Given the description of an element on the screen output the (x, y) to click on. 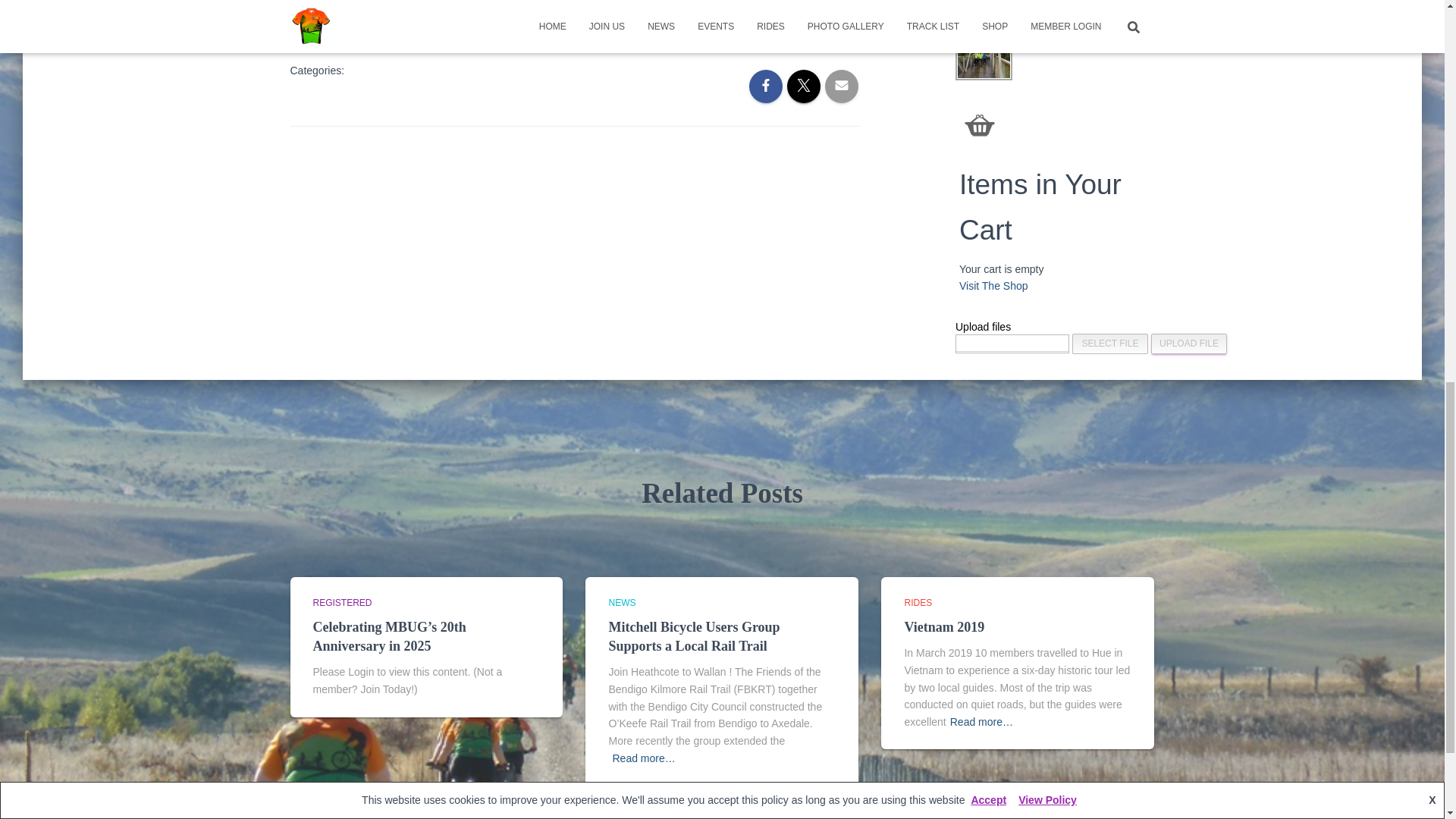
Visit The Shop (993, 285)
Select File (1109, 343)
Upload File (1189, 343)
Mitchell Bicycle Users Group Supports a Local Rail Trail (693, 636)
Shopping Cart (979, 124)
NEWS (621, 602)
REGISTERED (342, 602)
